Given the description of an element on the screen output the (x, y) to click on. 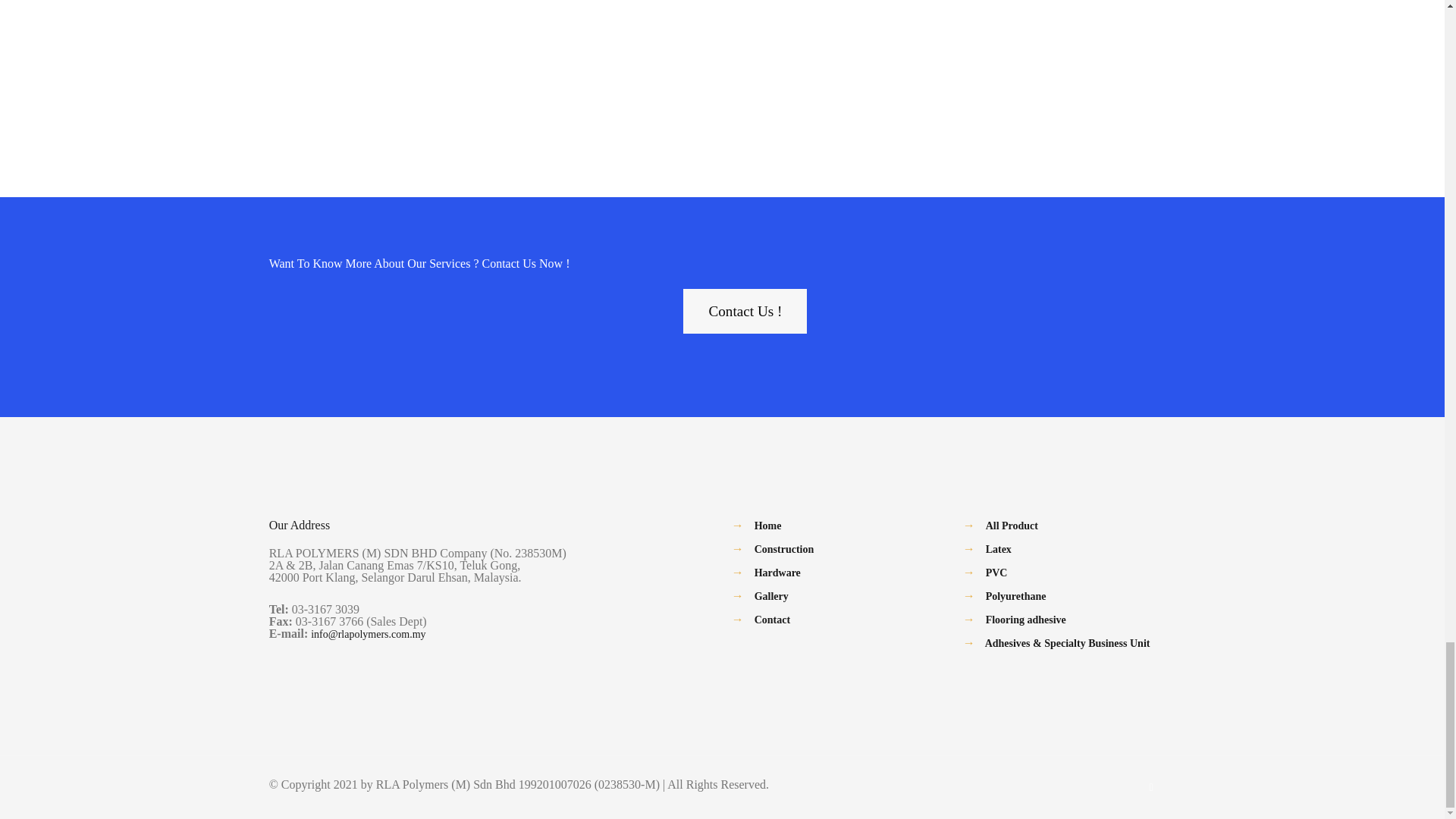
Contact Us ! (744, 311)
Hardware (777, 572)
Latex (998, 549)
Gallery (771, 595)
All Product (1011, 525)
Construction (783, 549)
Home (767, 525)
Contact (772, 619)
